Given the description of an element on the screen output the (x, y) to click on. 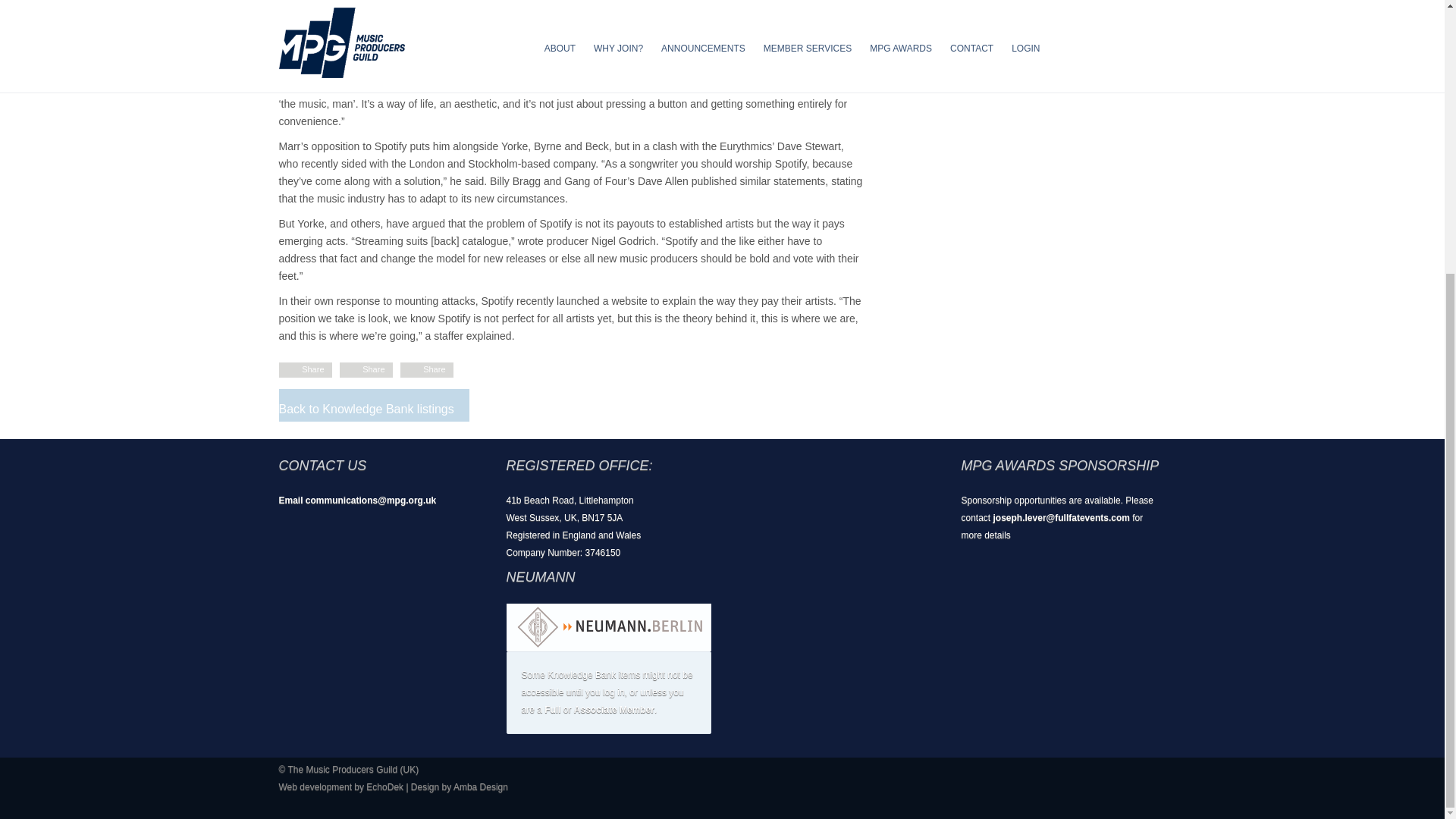
Share (373, 368)
Share (434, 368)
Marr told NME (625, 9)
Share (312, 368)
Back to Knowledge Bank listings (366, 408)
